Given the description of an element on the screen output the (x, y) to click on. 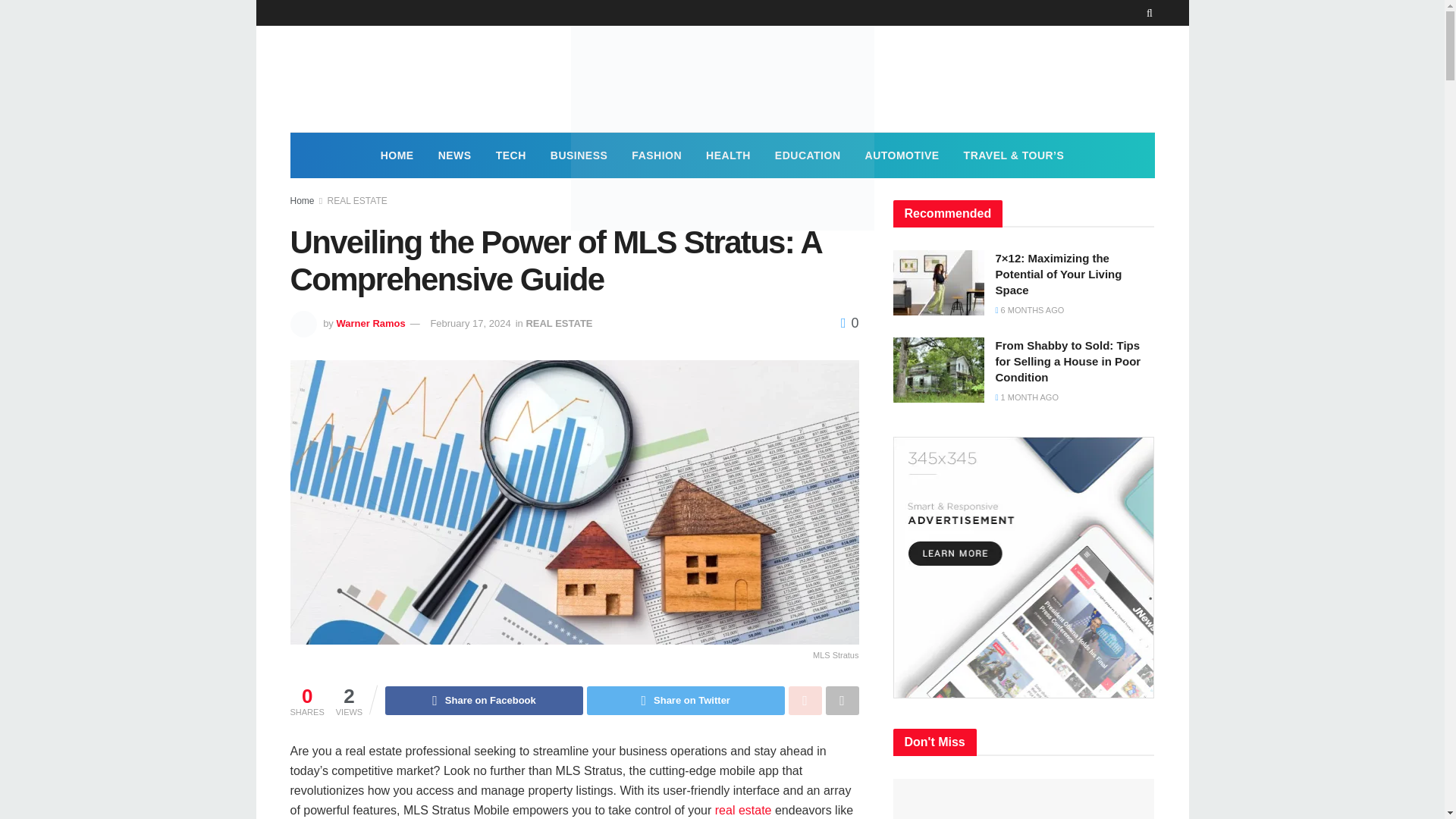
February 17, 2024 (470, 323)
EDUCATION (807, 155)
REAL ESTATE (558, 323)
Share on Twitter (685, 700)
TECH (510, 155)
0 (850, 322)
Share on Facebook (484, 700)
NEWS (454, 155)
Home (301, 200)
